Given the description of an element on the screen output the (x, y) to click on. 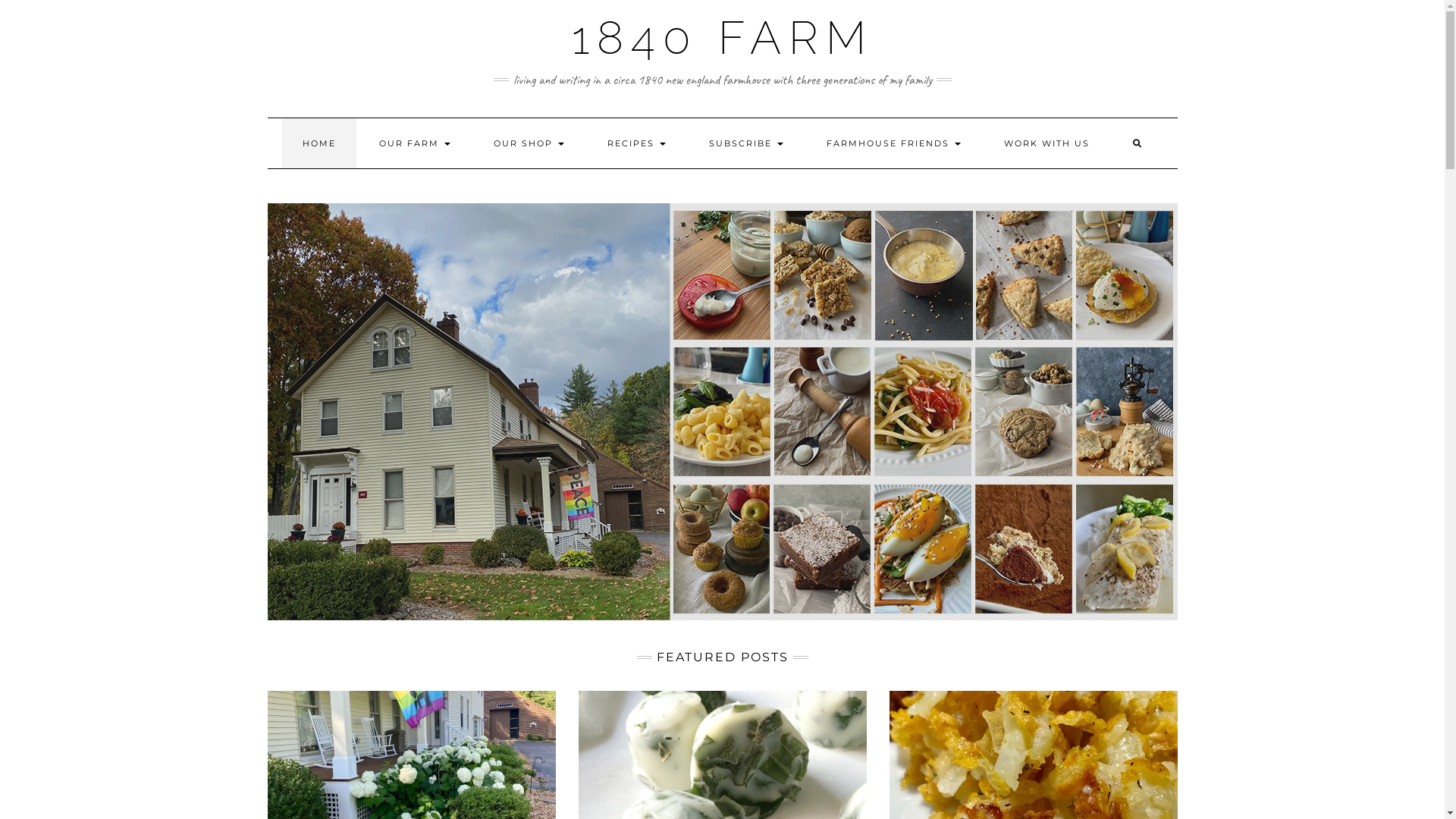
HOME Element type: text (319, 143)
OUR SHOP Element type: text (528, 143)
RECIPES Element type: text (636, 143)
1840 FARM Element type: text (722, 37)
OUR FARM Element type: text (413, 143)
SUBSCRIBE Element type: text (745, 143)
WORK WITH US Element type: text (1045, 143)
FARMHOUSE FRIENDS Element type: text (892, 143)
